Given the description of an element on the screen output the (x, y) to click on. 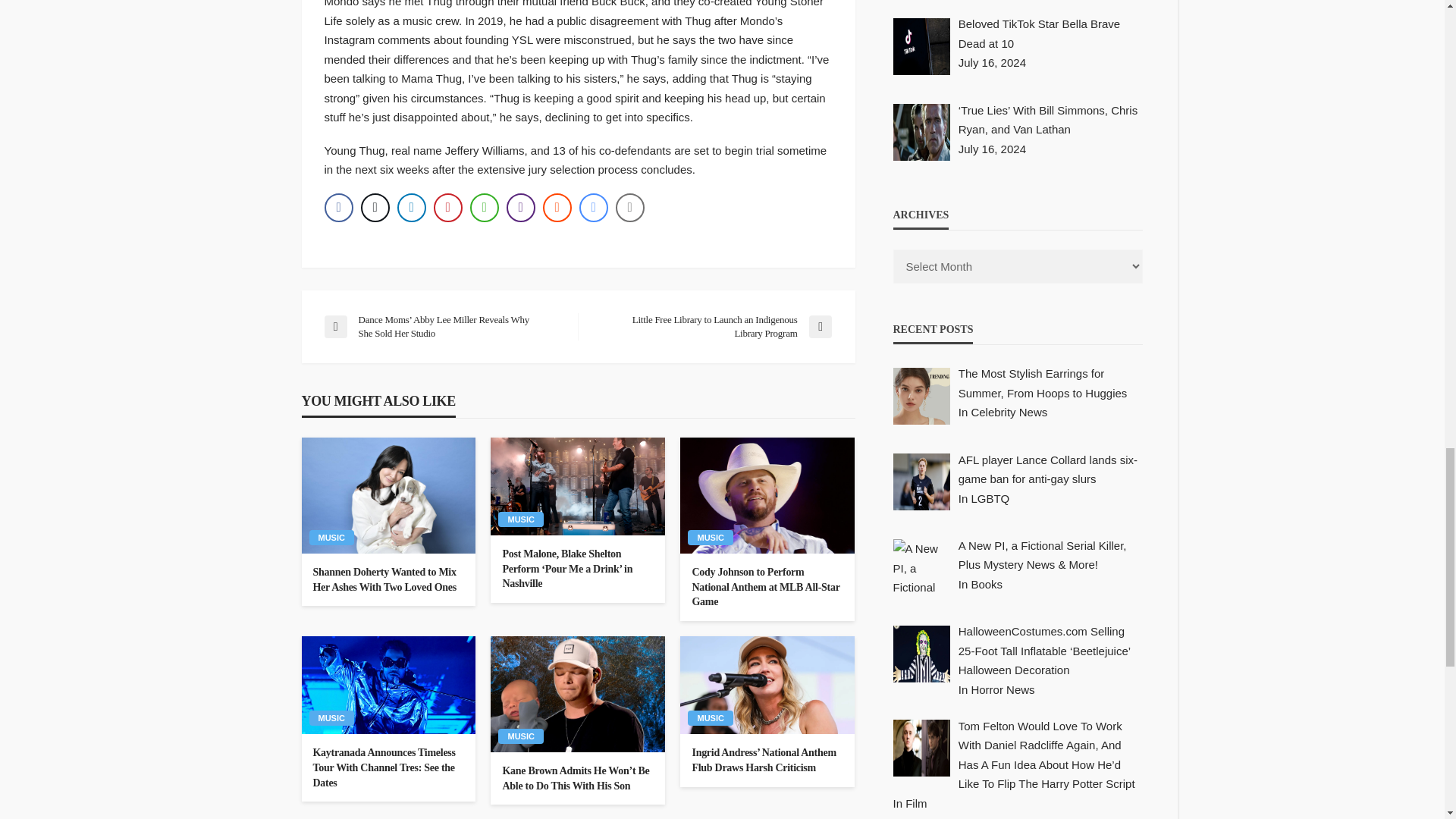
Music (709, 537)
Cody Johnson to Perform National Anthem at MLB All-Star Game (767, 587)
Little Free Library to Launch an Indigenous Library Program (711, 325)
Shannen Doherty Wanted to Mix Her Ashes With Two Loved Ones (388, 495)
Cody Johnson to Perform National Anthem at MLB All-Star Game (766, 495)
Music (330, 537)
Shannen Doherty Wanted to Mix Her Ashes With Two Loved Ones (388, 579)
Music (520, 519)
